Given the description of an element on the screen output the (x, y) to click on. 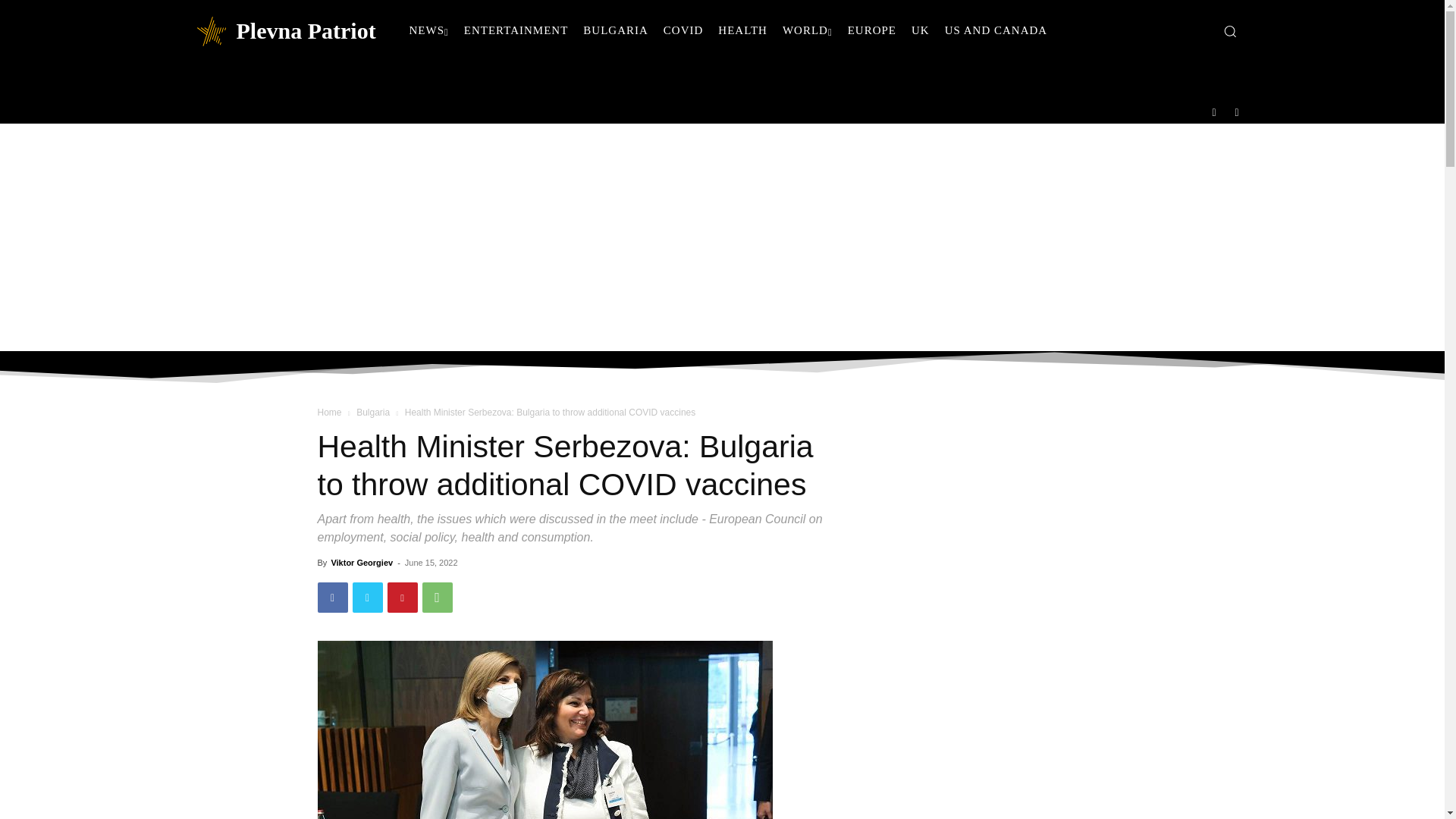
NEWS (429, 30)
Facebook (332, 597)
Twitter (366, 597)
WORLD (807, 30)
Bulgaria (373, 412)
Home (328, 412)
EUROPE (872, 30)
Twitter (1237, 111)
US AND CANADA (996, 30)
WhatsApp (436, 597)
HEALTH (742, 30)
UK (920, 30)
Pinterest (401, 597)
View all posts in Bulgaria (373, 412)
